Given the description of an element on the screen output the (x, y) to click on. 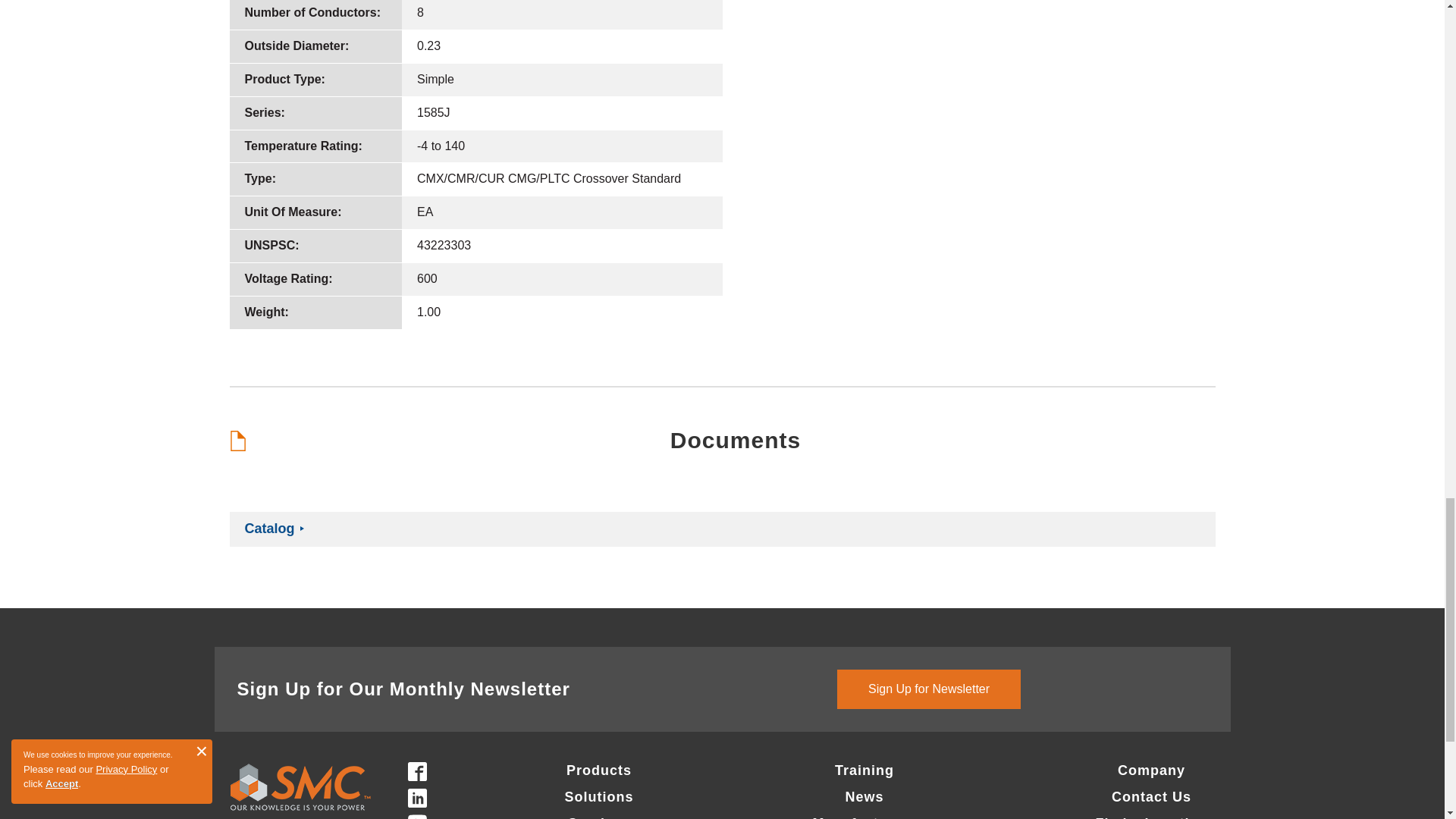
Catalog (269, 528)
